Given the description of an element on the screen output the (x, y) to click on. 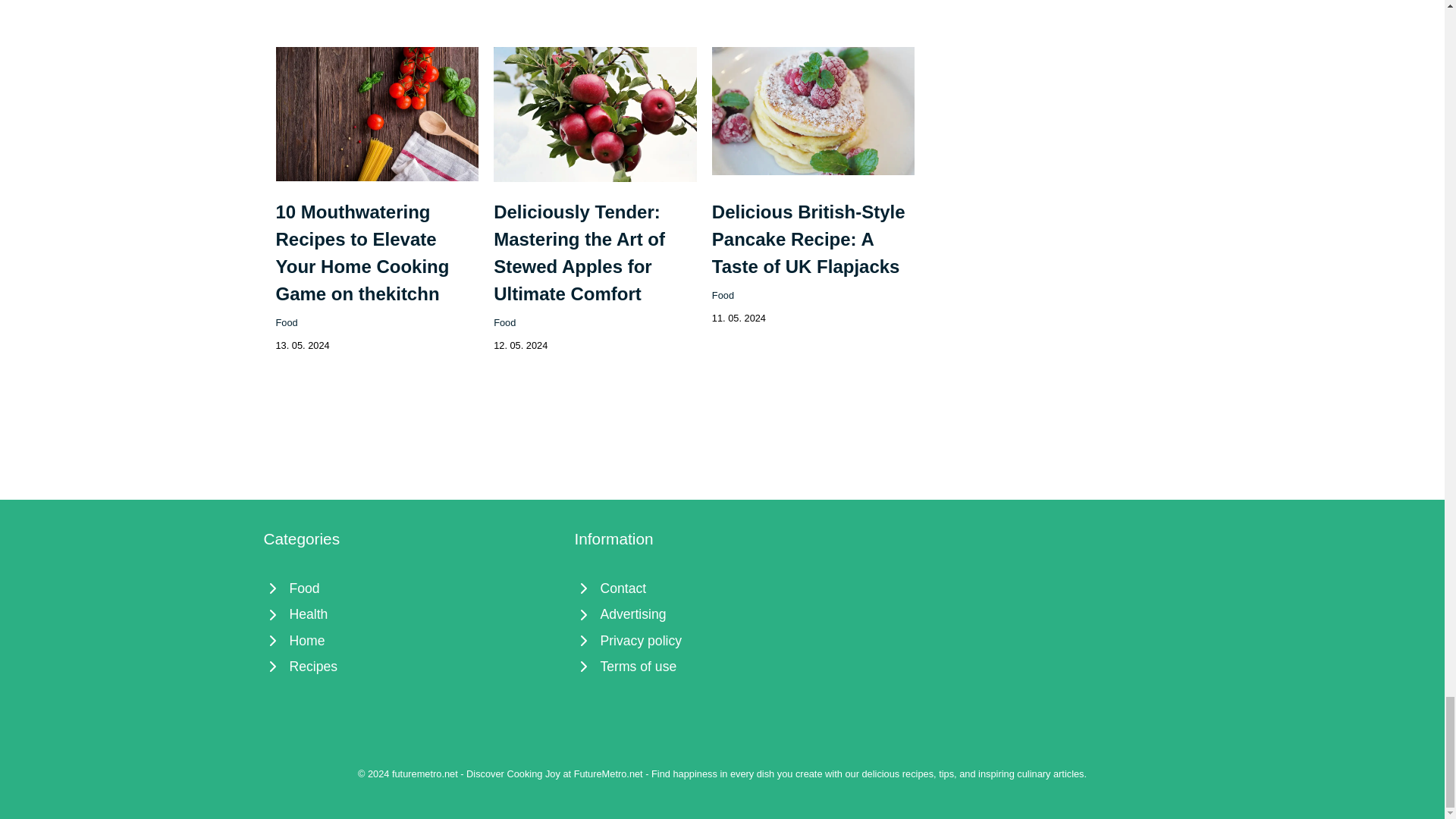
Food (287, 322)
Food (411, 588)
Terms of use (722, 666)
Recipes (411, 666)
Food (504, 322)
Privacy policy (722, 640)
Contact (722, 588)
Advertising (722, 614)
Health (411, 614)
Food (722, 295)
Home (411, 640)
